Given the description of an element on the screen output the (x, y) to click on. 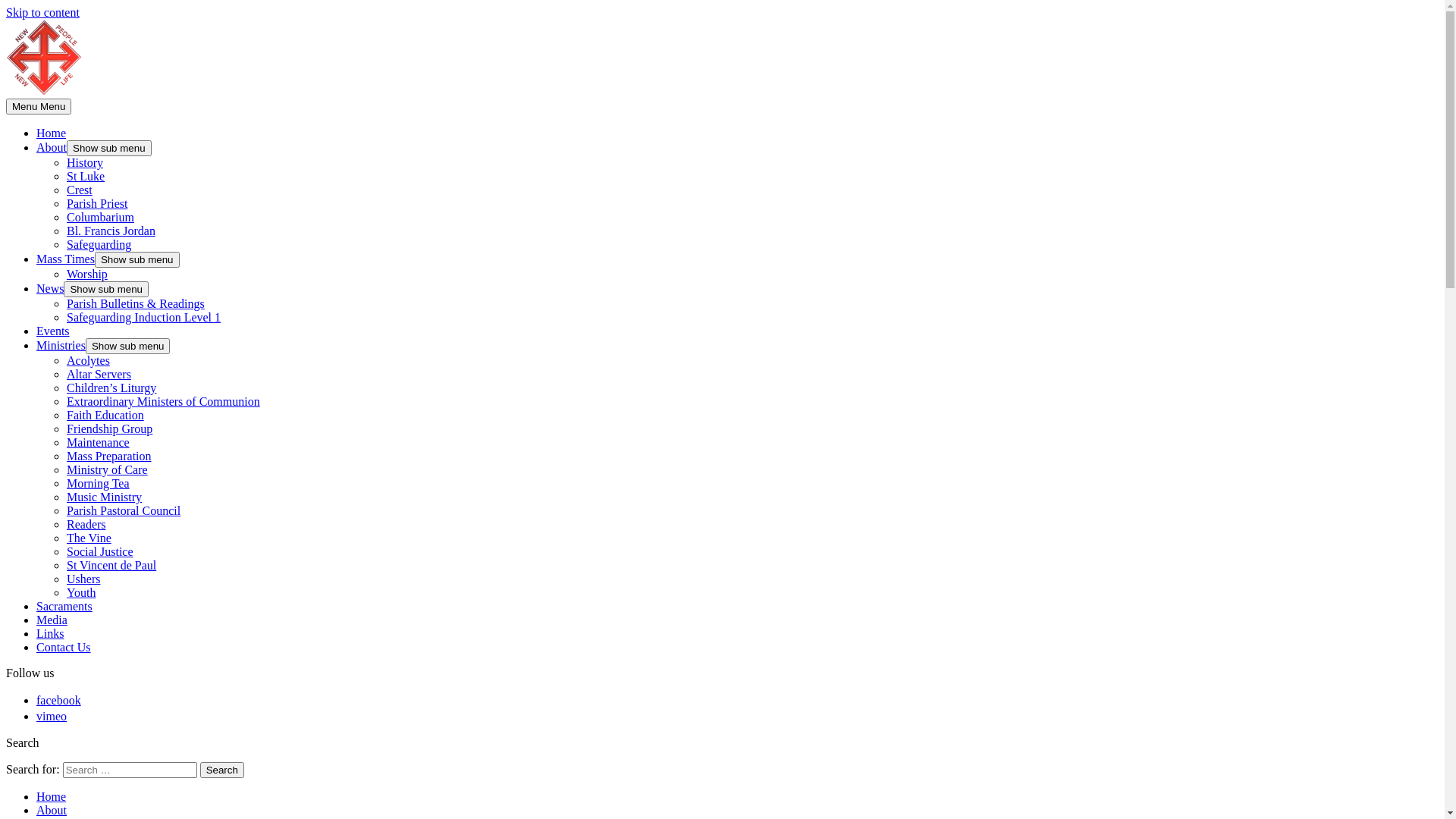
St Luke Element type: text (85, 175)
Menu Menu Element type: text (38, 106)
Ministries Element type: text (60, 344)
Readers Element type: text (86, 523)
Ushers Element type: text (83, 578)
Parish Pastoral Council Element type: text (123, 510)
Faith Education Element type: text (105, 414)
History Element type: text (84, 162)
Skip to content Element type: text (42, 12)
Parish Priest Element type: text (96, 203)
Contact Us Element type: text (63, 646)
News Element type: text (49, 288)
Extraordinary Ministers of Communion Element type: text (163, 401)
Worship Element type: text (86, 273)
Show sub menu Element type: text (108, 148)
About Element type: text (51, 809)
Safeguarding Element type: text (98, 244)
Search Element type: text (222, 770)
Home Element type: text (50, 132)
Show sub menu Element type: text (136, 259)
Sacraments Element type: text (64, 605)
Ministry of Care Element type: text (106, 469)
Social Justice Element type: text (99, 551)
Safeguarding Induction Level 1 Element type: text (143, 316)
The Vine Element type: text (88, 537)
vimeo Element type: text (57, 715)
Crest Element type: text (79, 189)
Mass Preparation Element type: text (108, 455)
Youth Element type: text (80, 592)
Links Element type: text (49, 633)
Show sub menu Element type: text (127, 346)
Morning Tea Element type: text (97, 482)
Friendship Group Element type: text (109, 428)
St Vincent de Paul Element type: text (111, 564)
Events Element type: text (52, 330)
Mass Times Element type: text (65, 258)
Maintenance Element type: text (97, 442)
Acolytes Element type: text (87, 360)
About Element type: text (51, 147)
Show sub menu Element type: text (105, 289)
Home Element type: text (50, 796)
Media Element type: text (51, 619)
Parish Bulletins & Readings Element type: text (135, 303)
Columbarium Element type: text (100, 216)
Altar Servers Element type: text (98, 373)
Bl. Francis Jordan Element type: text (110, 230)
facebook Element type: text (64, 699)
Music Ministry Element type: text (103, 496)
